Given the description of an element on the screen output the (x, y) to click on. 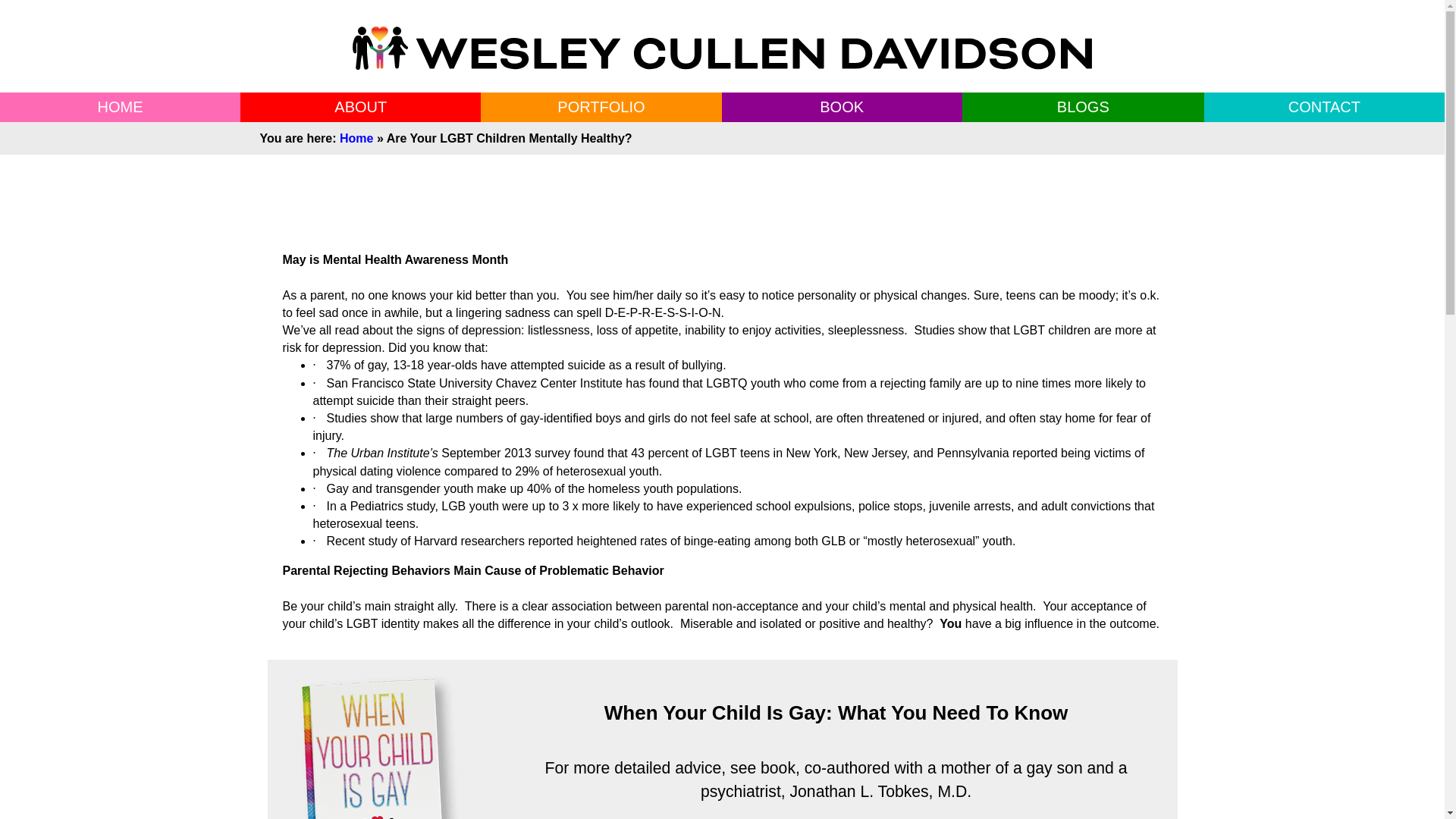
wesleycover (380, 746)
PORTFOLIO (601, 106)
logoFAMILY (722, 47)
HOME (119, 106)
Home (355, 137)
CONTACT (1323, 106)
BOOK (841, 106)
BLOGS (1083, 106)
ABOUT (360, 106)
